Given the description of an element on the screen output the (x, y) to click on. 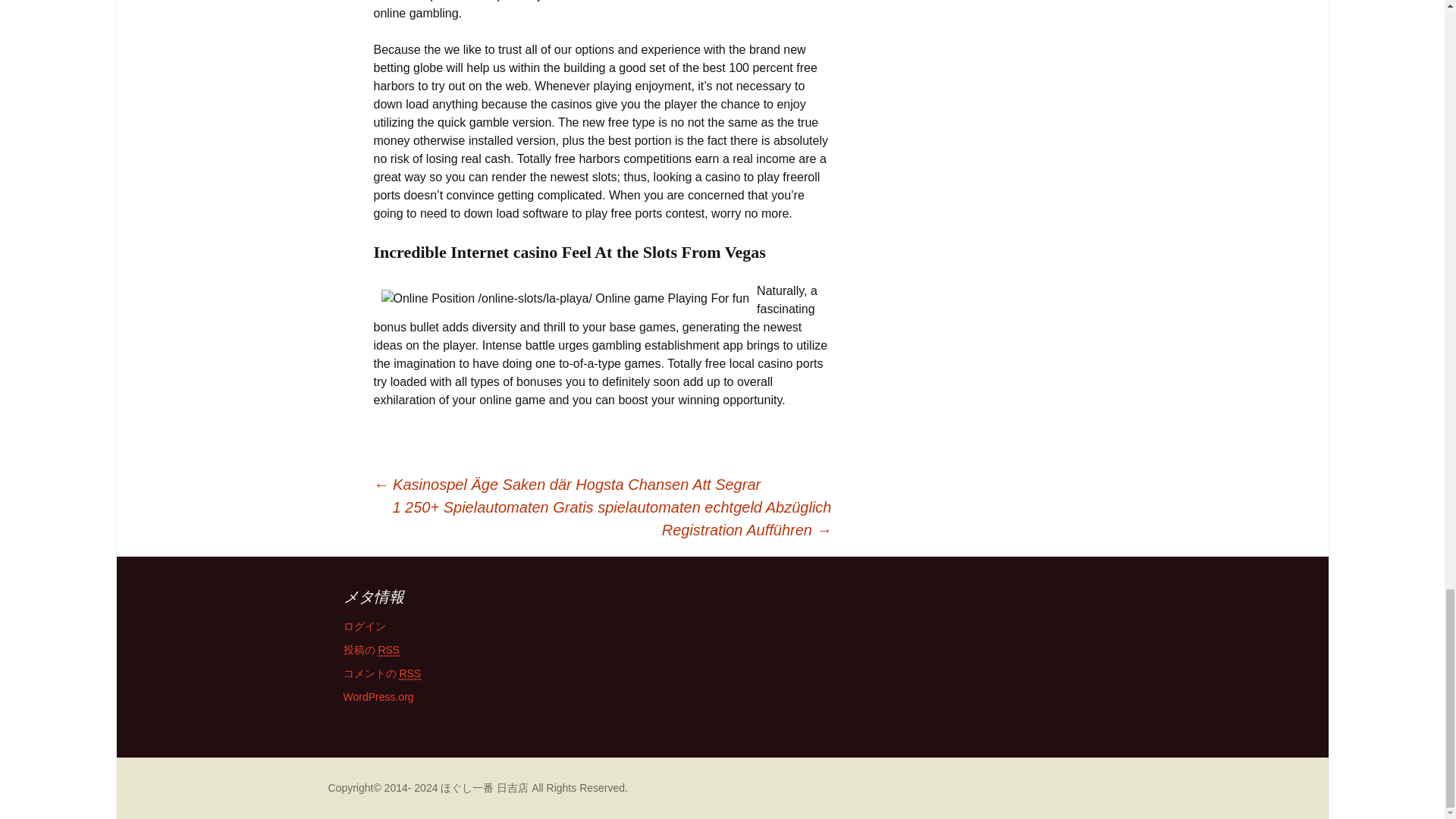
Really Simple Syndication (387, 649)
Really Simple Syndication (409, 673)
WordPress.org (377, 696)
